Given the description of an element on the screen output the (x, y) to click on. 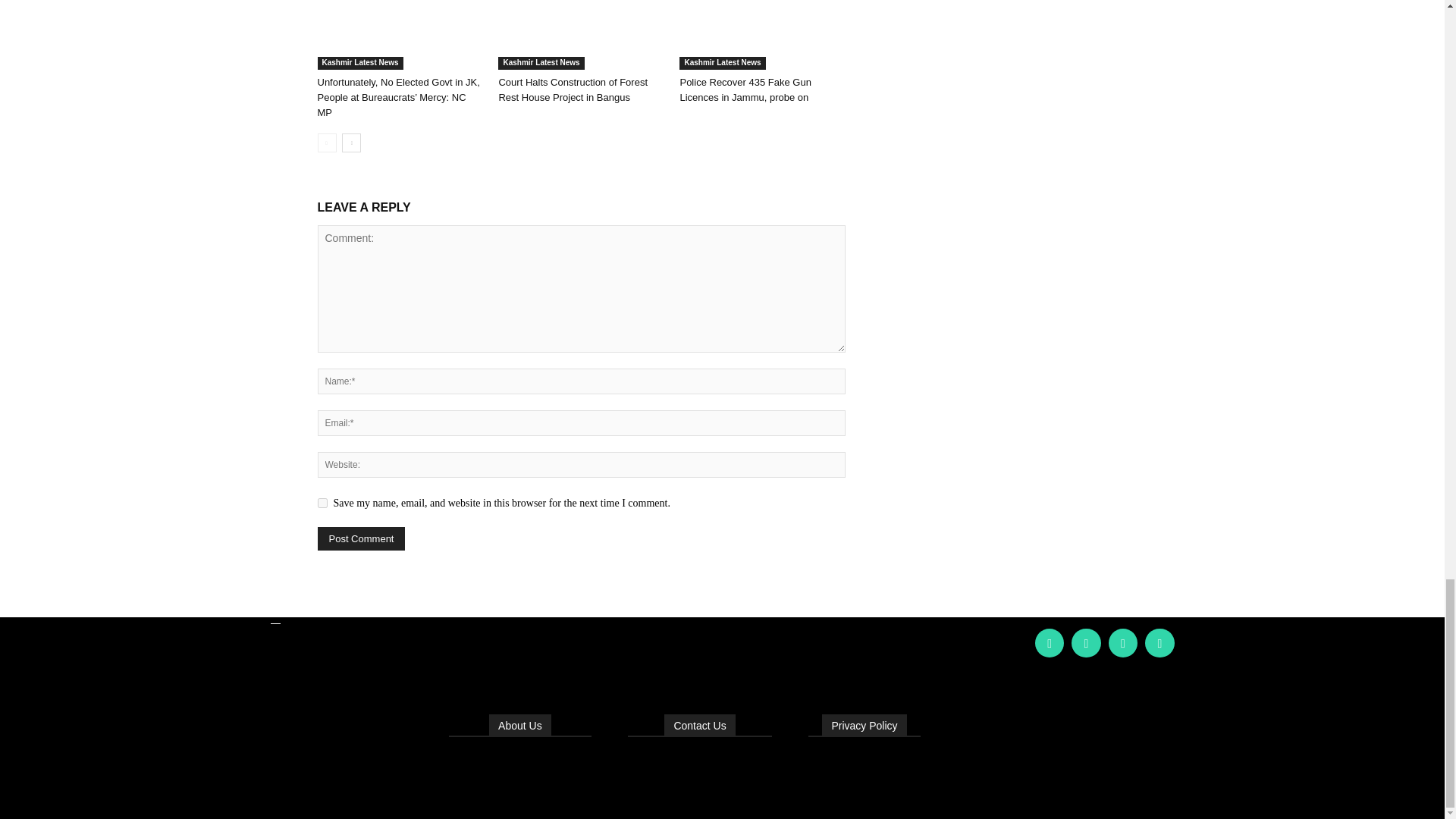
yes (321, 502)
Post Comment (360, 538)
